Given the description of an element on the screen output the (x, y) to click on. 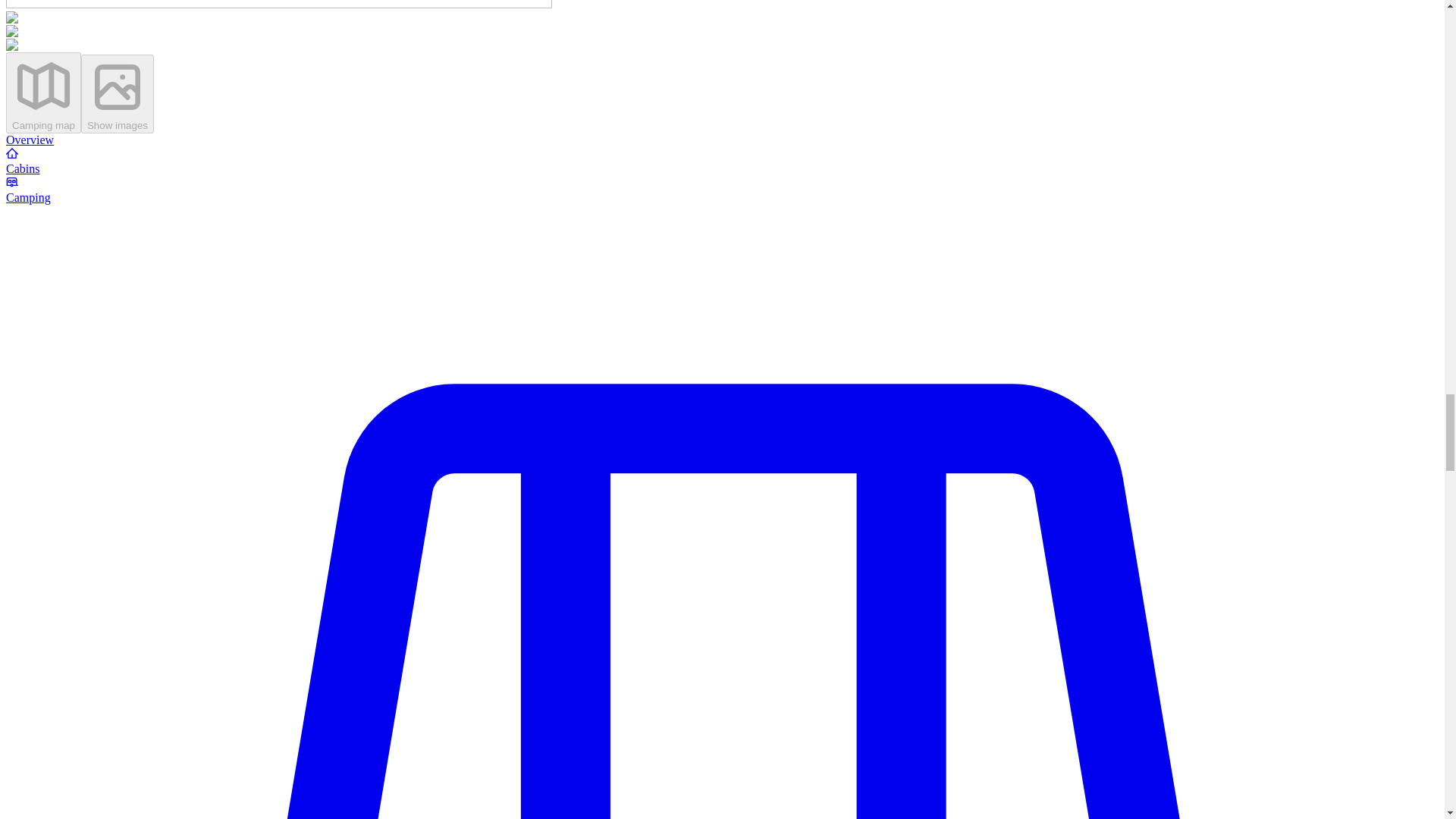
Show images (117, 93)
Camping map (43, 92)
Overview (29, 139)
